Given the description of an element on the screen output the (x, y) to click on. 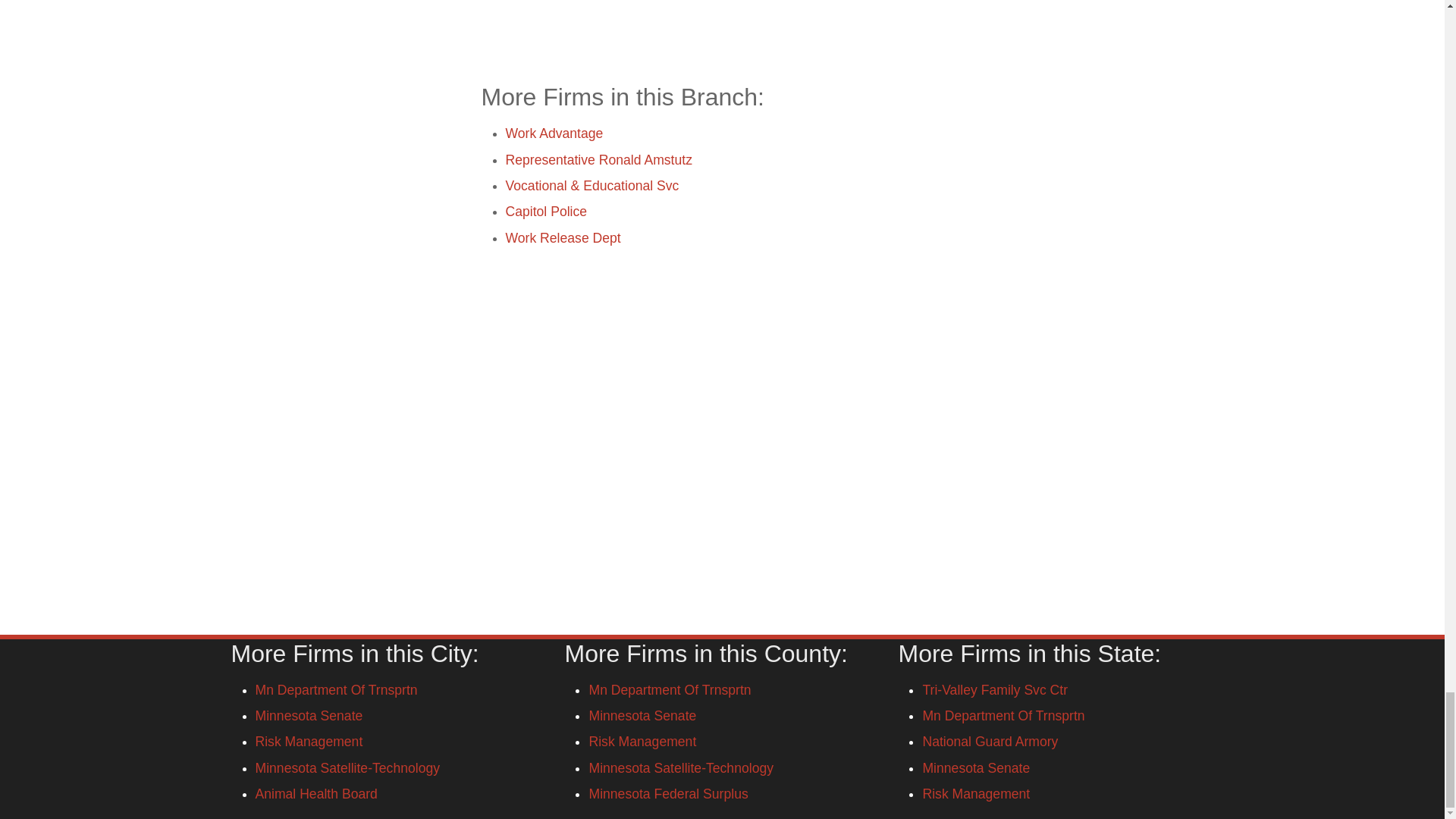
Capitol Police (545, 211)
Work Release Dept (562, 237)
Work Advantage (553, 133)
Representative Ronald Amstutz (598, 159)
